Given the description of an element on the screen output the (x, y) to click on. 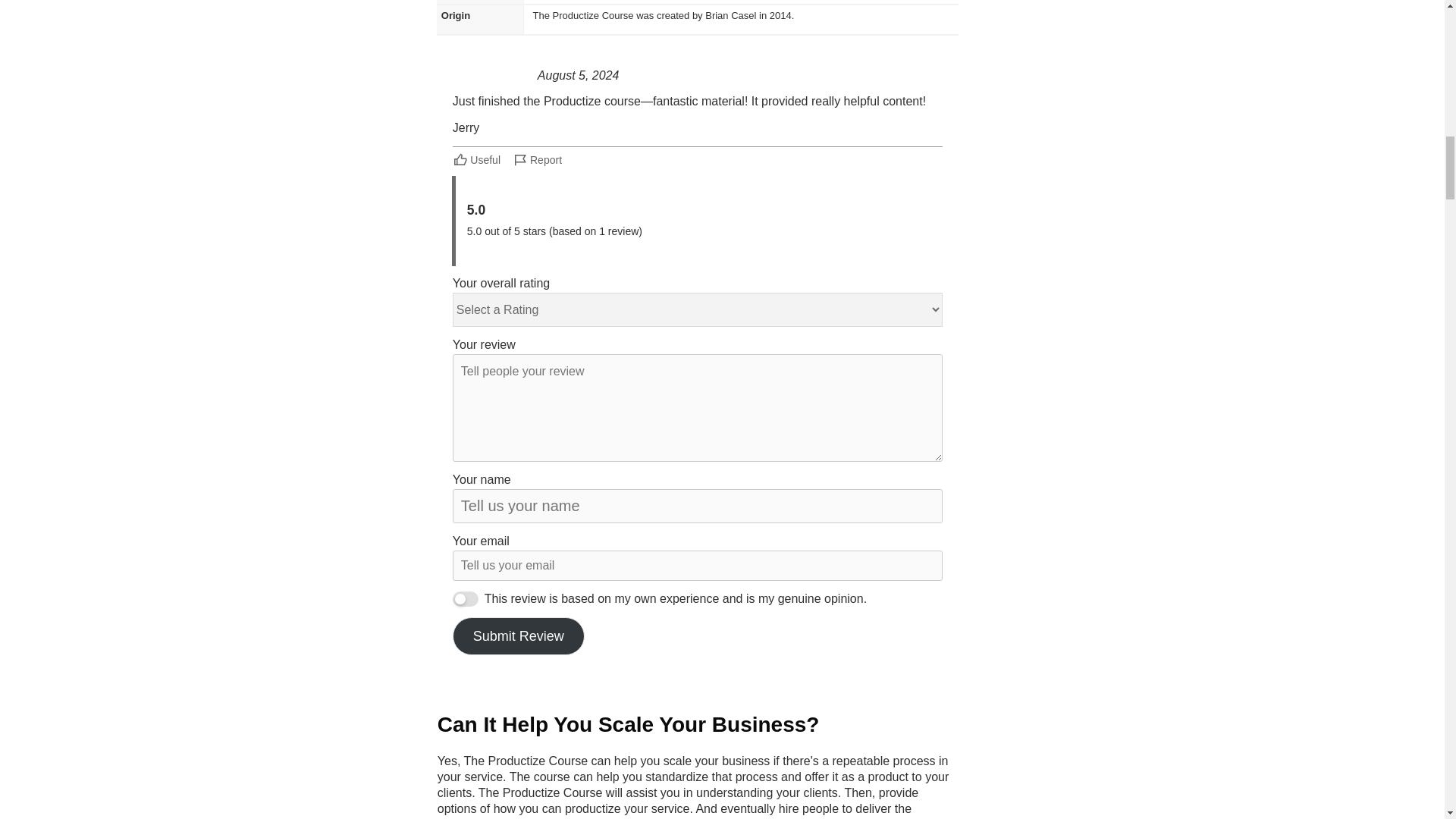
1 (465, 598)
Submit Review (518, 636)
Report (537, 159)
Useful (477, 159)
